Given the description of an element on the screen output the (x, y) to click on. 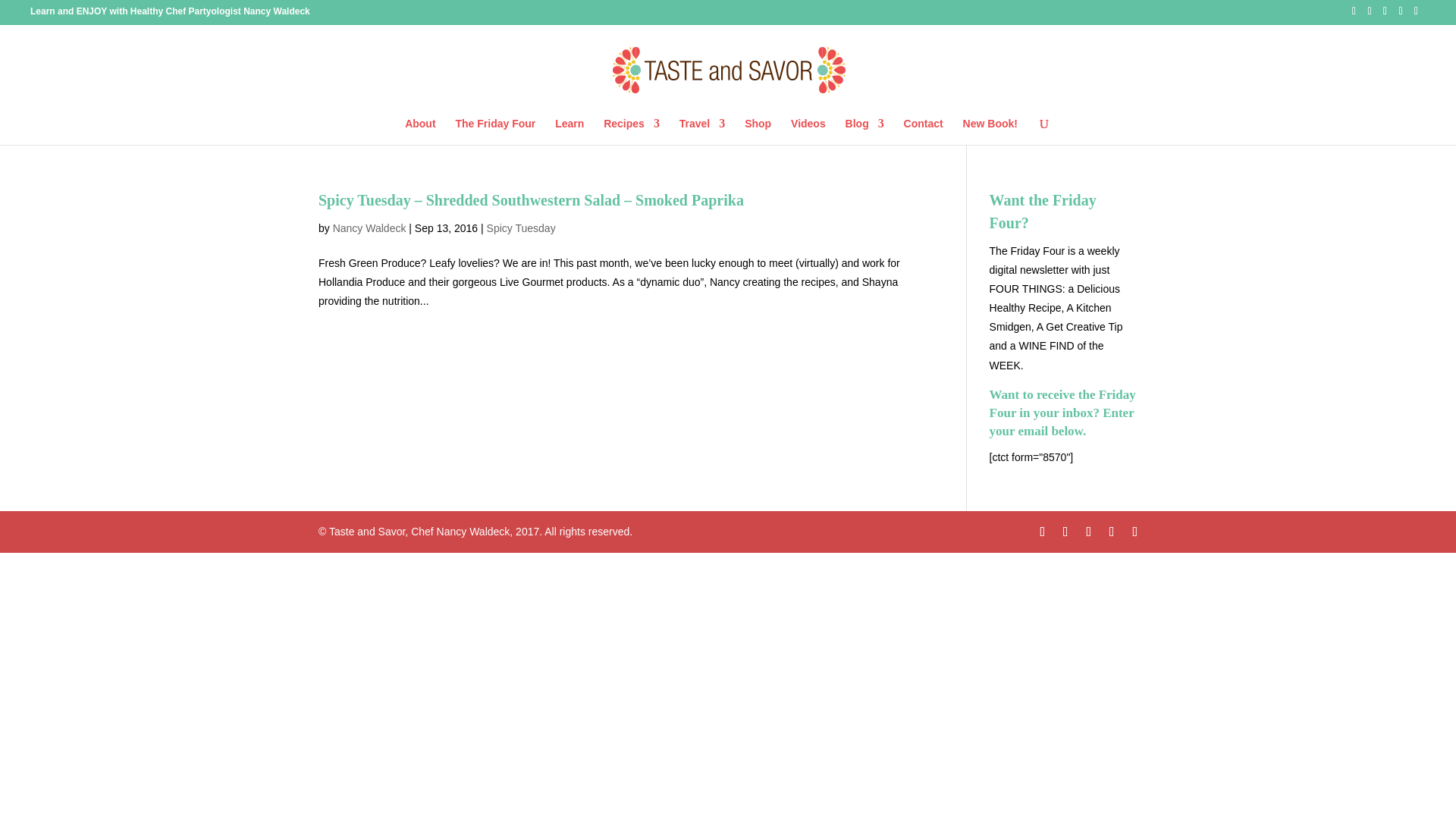
Recipes (631, 130)
The Friday Four (494, 130)
Posts by Nancy Waldeck (369, 227)
About (419, 130)
Learn (568, 130)
Travel (702, 130)
